Given the description of an element on the screen output the (x, y) to click on. 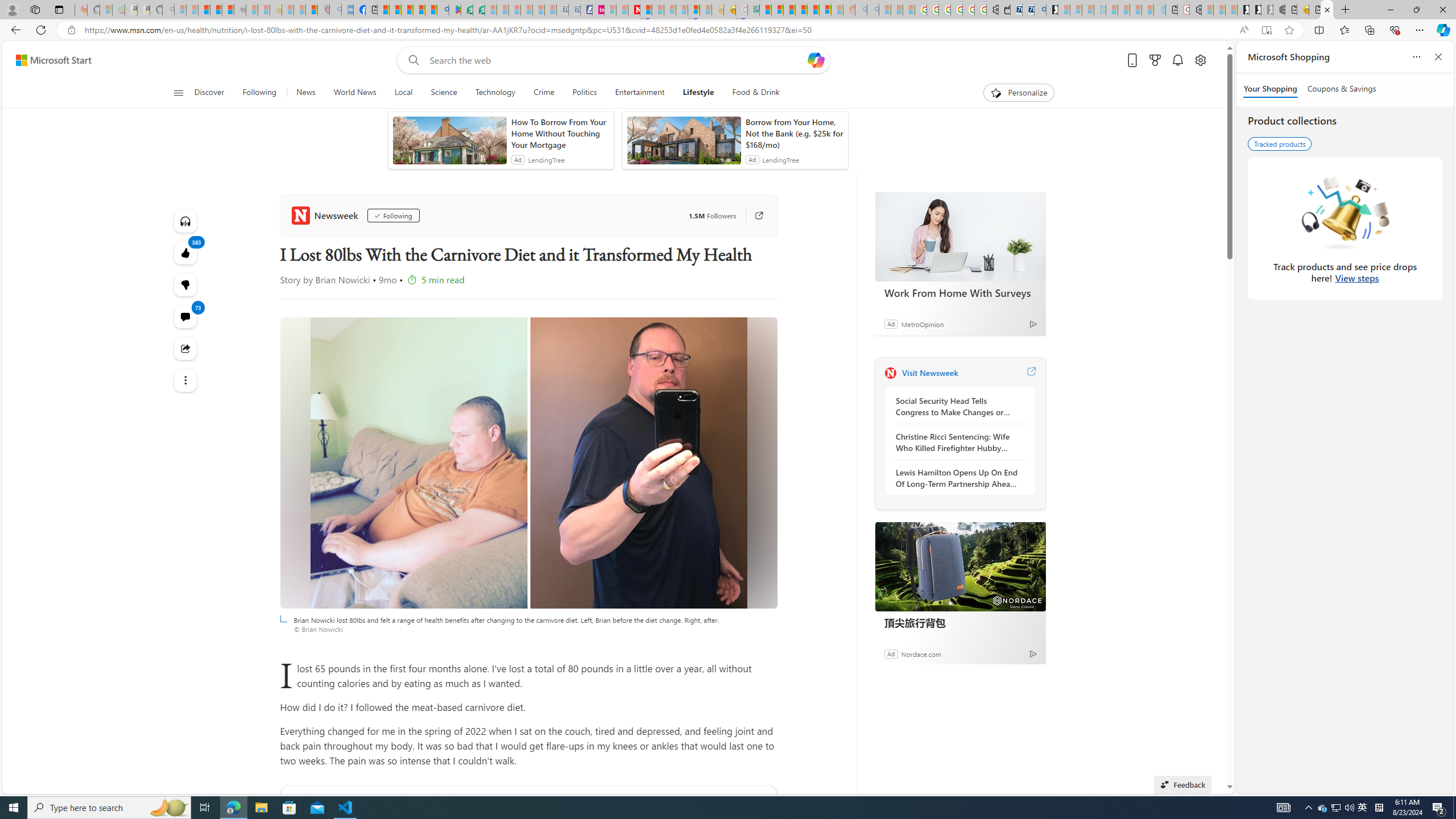
Terms of Use Agreement (466, 9)
Work From Home With Surveys (960, 236)
Kinda Frugal - MSN (813, 9)
Listen to this article (184, 220)
Food & Drink (756, 92)
Discover (213, 92)
View site information (70, 29)
Microsoft Word - consumer-privacy address update 2.2021 (478, 9)
Politics (584, 92)
Open settings (1199, 60)
Following (258, 92)
Home | Sky Blue Bikes - Sky Blue Bikes - Sleeping (1159, 9)
